Given the description of an element on the screen output the (x, y) to click on. 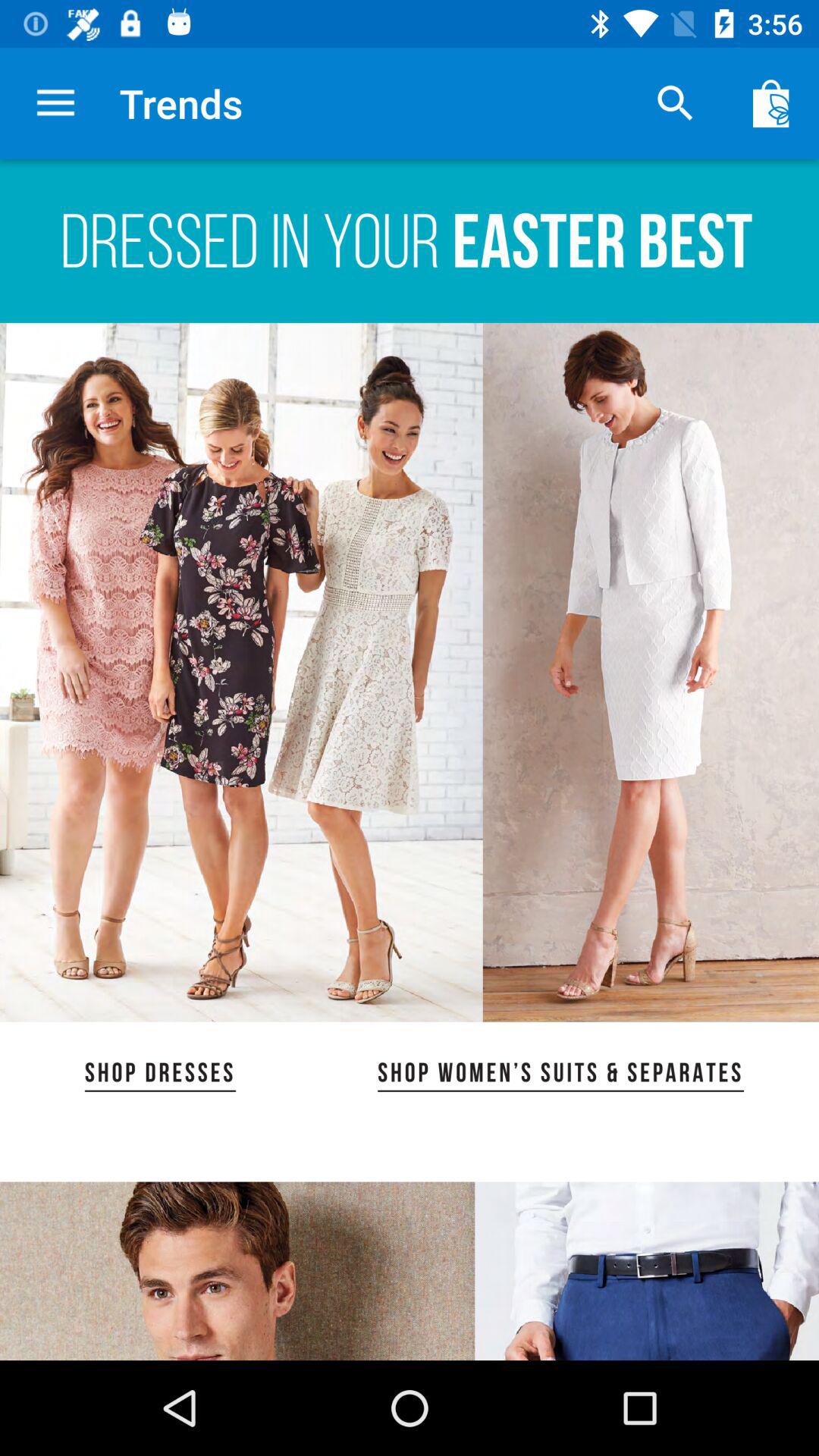
tap the app next to the trends item (55, 103)
